Given the description of an element on the screen output the (x, y) to click on. 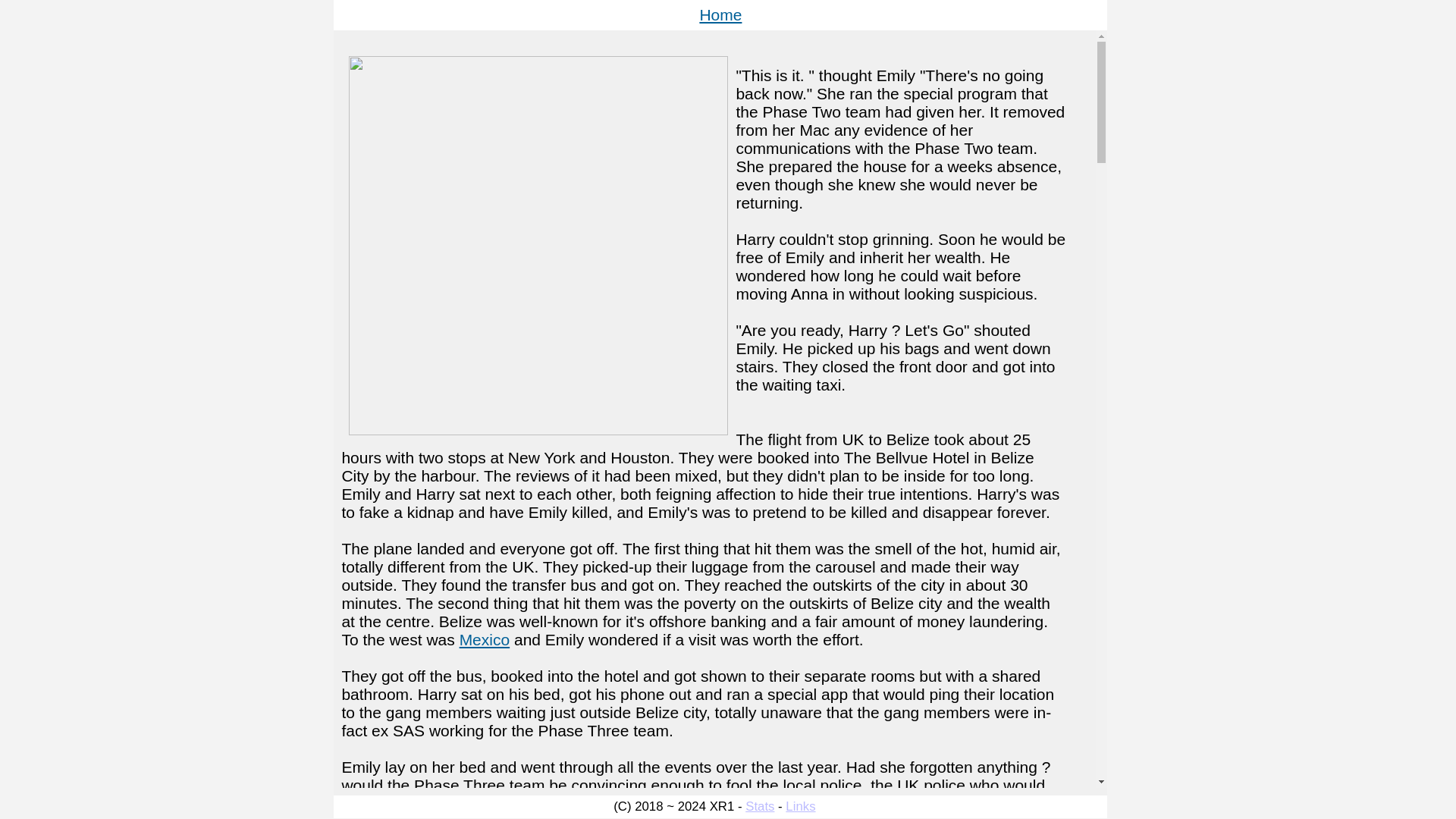
Mexico (485, 639)
Stats (759, 806)
Links (800, 806)
Home (719, 14)
